Given the description of an element on the screen output the (x, y) to click on. 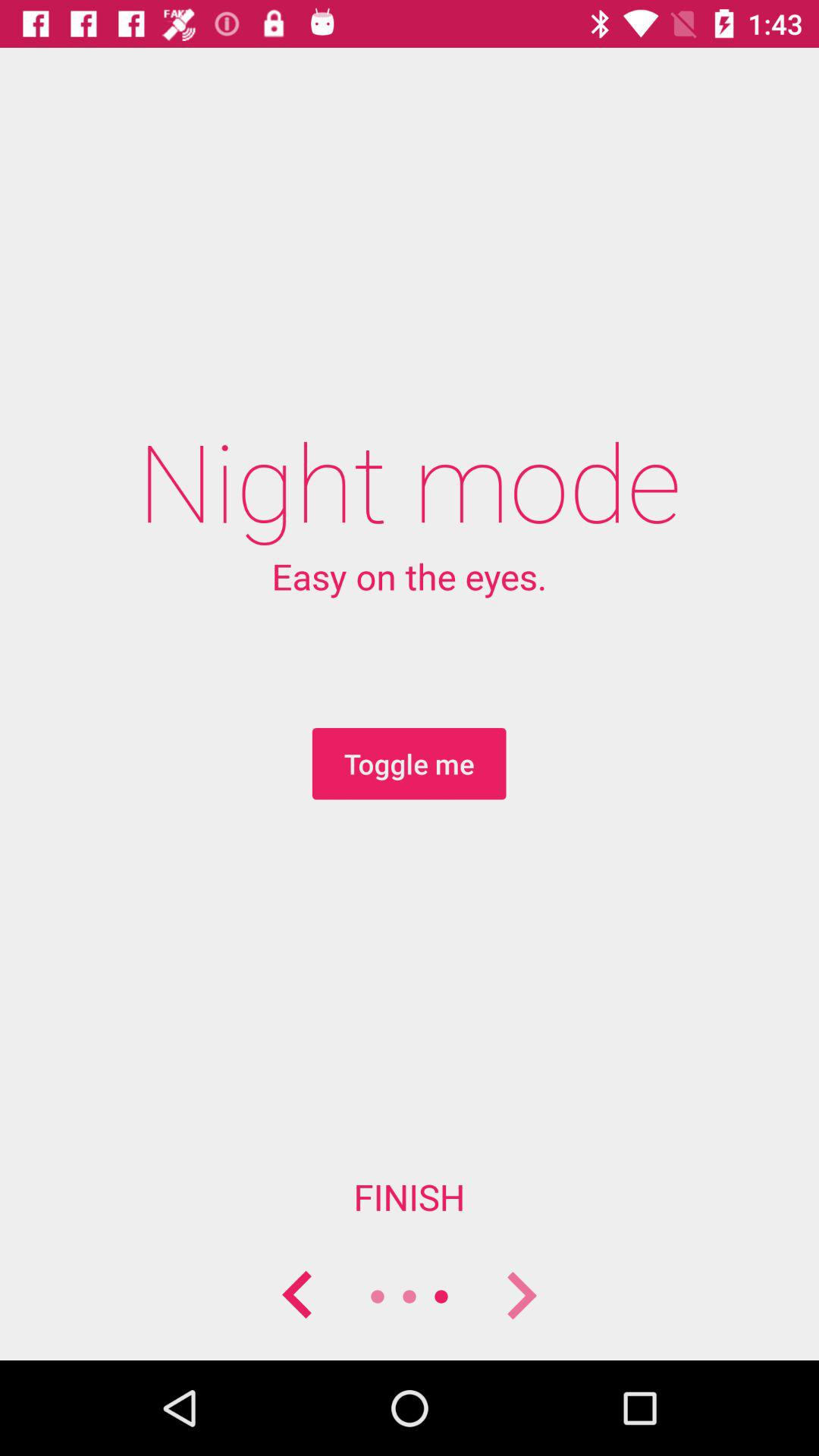
open the finish item (409, 1197)
